Given the description of an element on the screen output the (x, y) to click on. 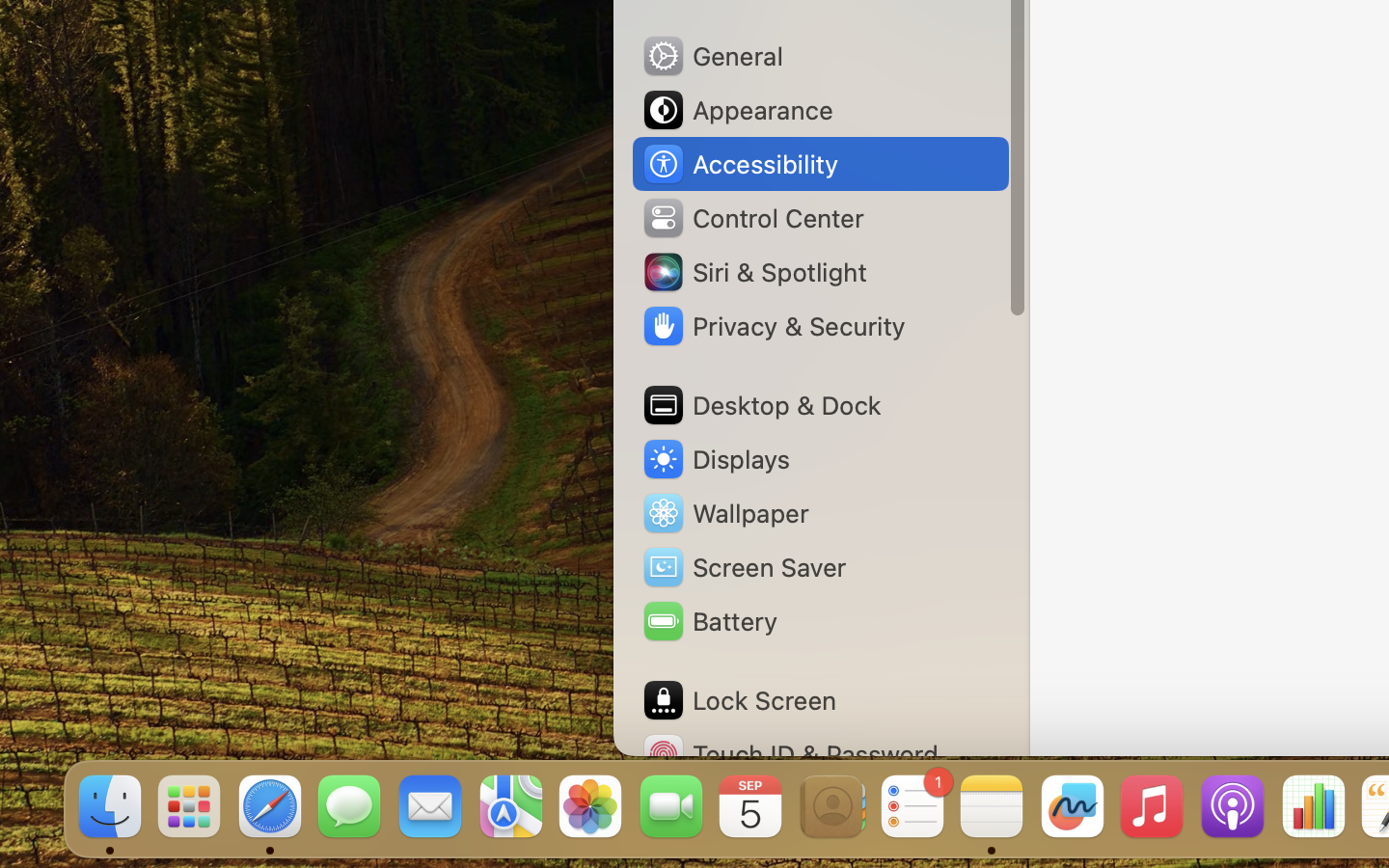
General Element type: AXStaticText (711, 55)
Screen Saver Element type: AXStaticText (743, 566)
Privacy & Security Element type: AXStaticText (772, 325)
Accessibility Element type: AXStaticText (739, 163)
Displays Element type: AXStaticText (715, 458)
